Given the description of an element on the screen output the (x, y) to click on. 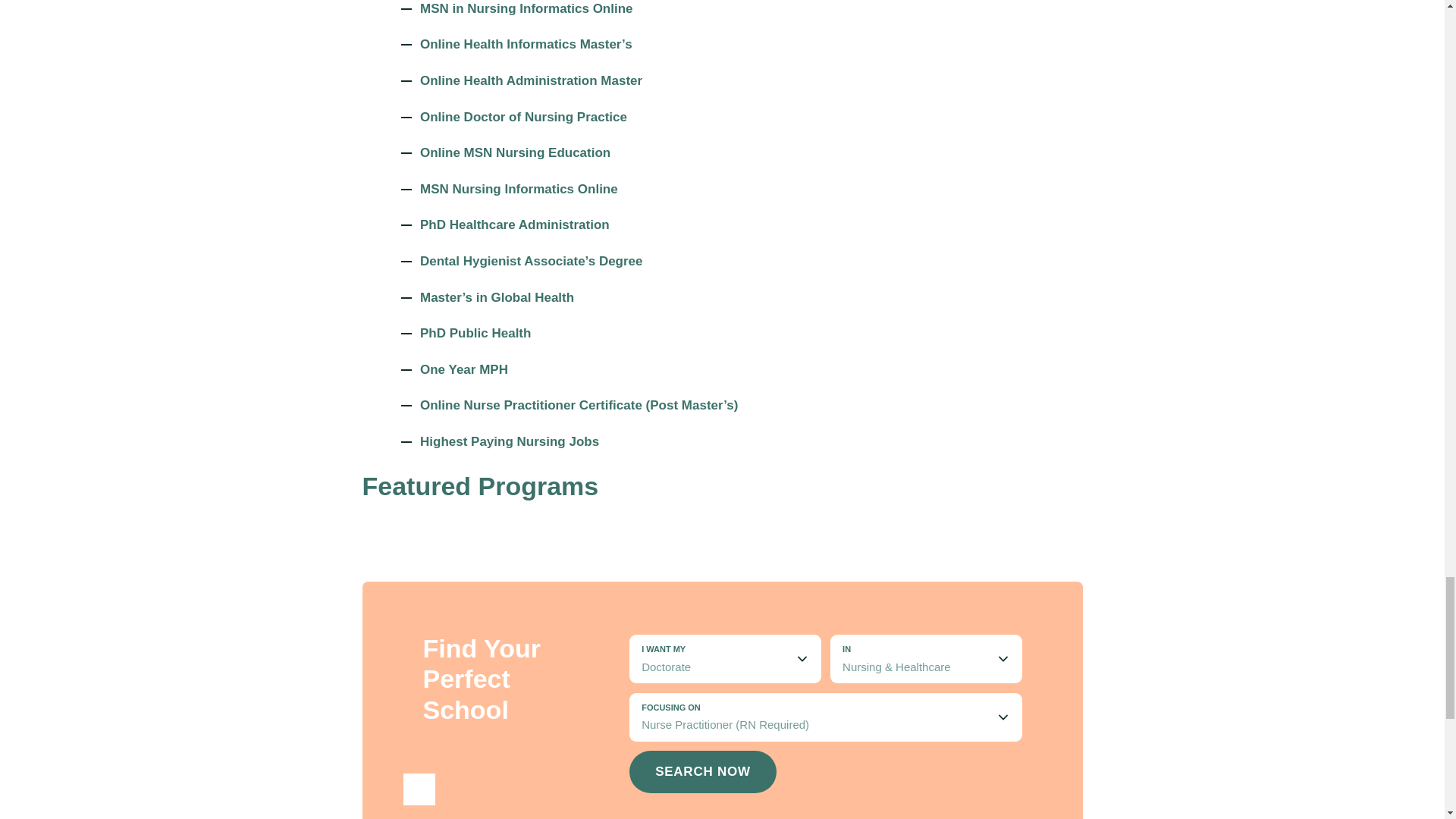
Highest Paying Nursing Jobs (509, 442)
Online Doctor of Nursing Practice (523, 117)
PhD Public Health (475, 333)
MSN in Nursing Informatics Online (526, 9)
Online Health Administration Master (531, 81)
MSN Nursing Informatics Online (518, 189)
One Year MPH (464, 370)
PhD Healthcare Administration (515, 225)
Online MSN Nursing Education (515, 153)
